Given the description of an element on the screen output the (x, y) to click on. 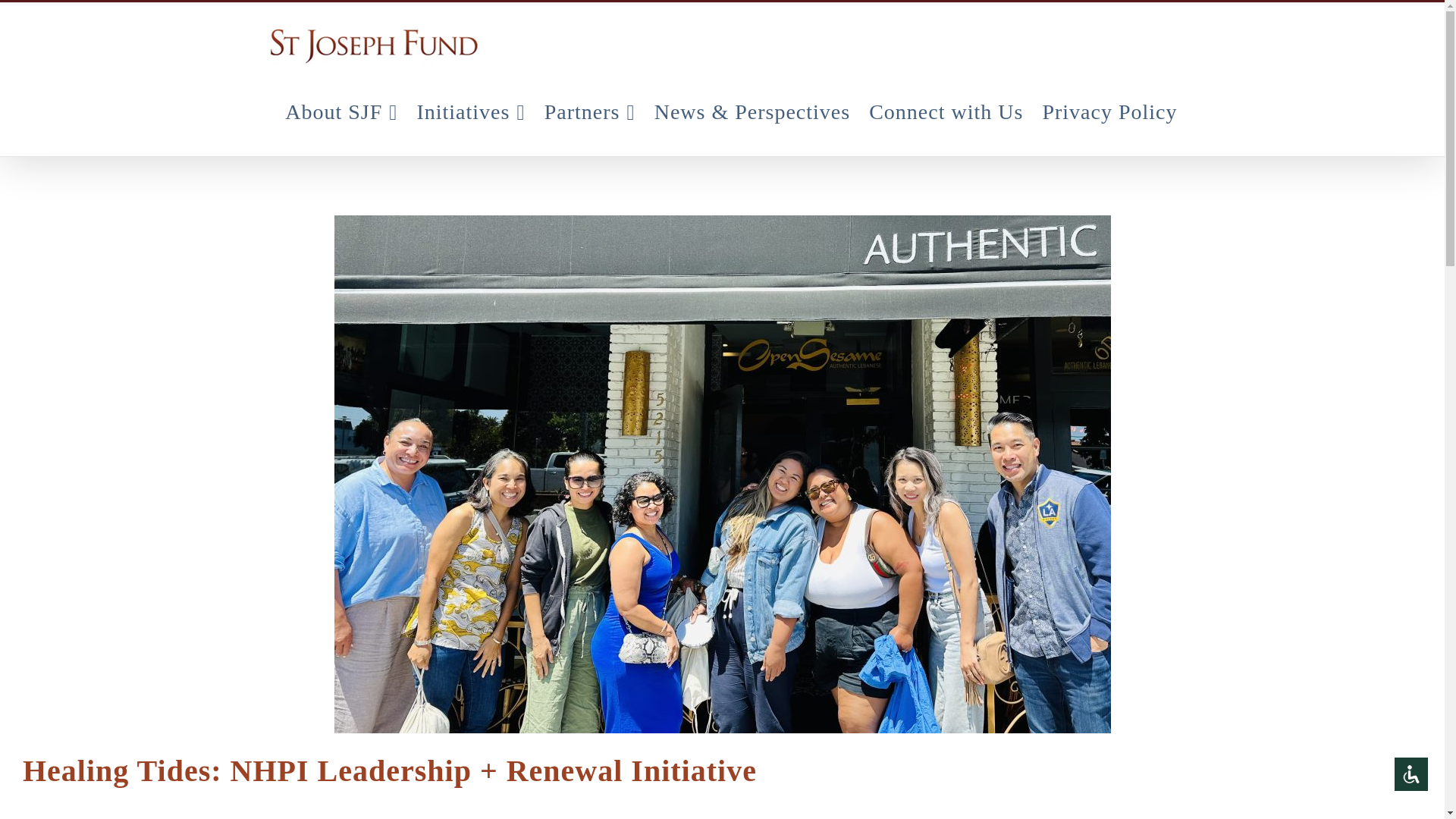
Privacy Policy (1109, 111)
Connect with Us (946, 111)
Partners (589, 111)
About SJF (341, 111)
Initiatives (470, 111)
